Given the description of an element on the screen output the (x, y) to click on. 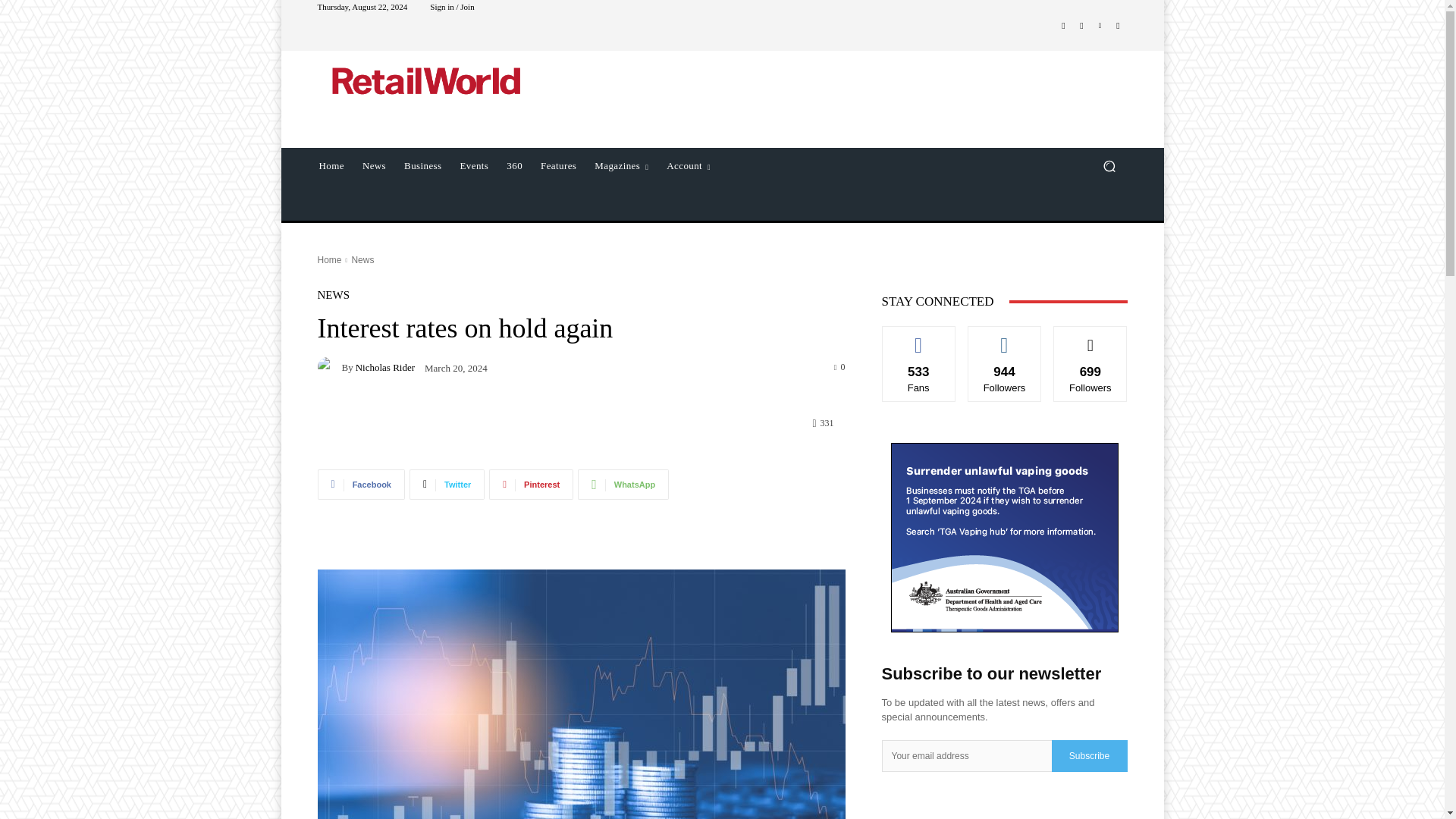
Features (558, 166)
View all posts in News (362, 259)
Facebook (1062, 25)
Facebook (360, 483)
NEWS (333, 295)
Pinterest (531, 483)
Home (328, 259)
Events (474, 166)
Business (421, 166)
WhatsApp (623, 483)
